Given the description of an element on the screen output the (x, y) to click on. 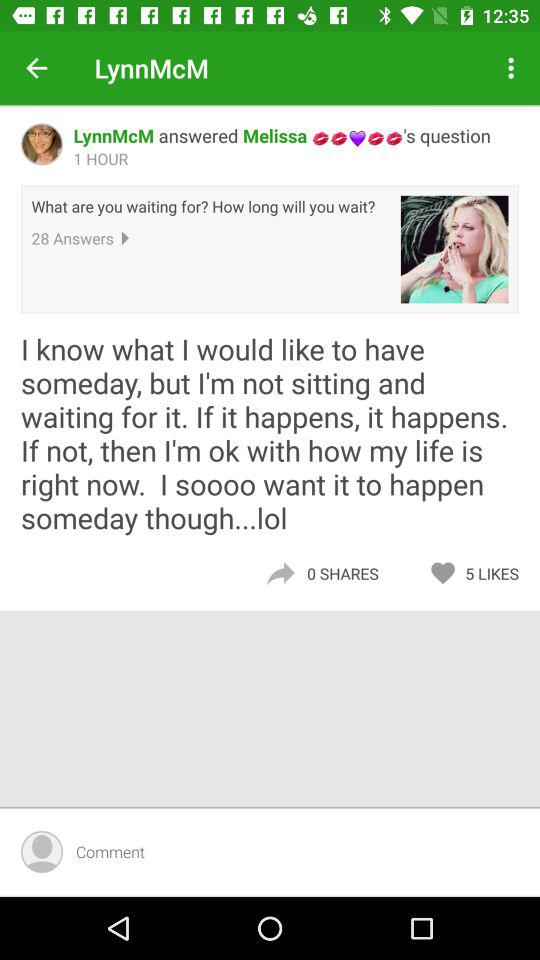
press app to the right of the lynnmcm item (513, 67)
